Given the description of an element on the screen output the (x, y) to click on. 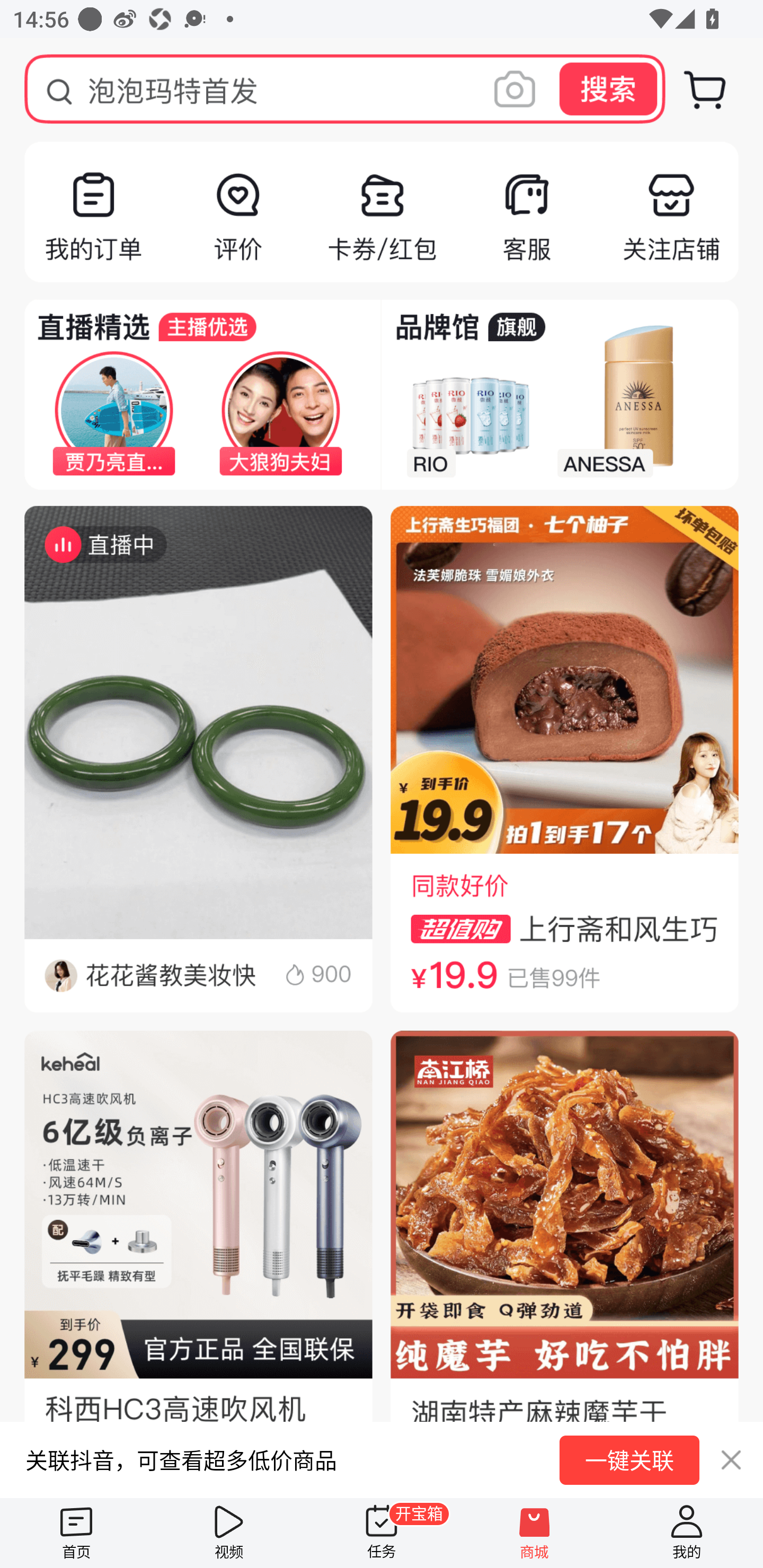
关联抖音，可查看超多低价商品 一键关联 (381, 1459)
一键关联 (629, 1460)
首页 (76, 1532)
视频 (228, 1532)
任务 开宝箱 (381, 1532)
商城 (533, 1532)
我的 (686, 1532)
